Given the description of an element on the screen output the (x, y) to click on. 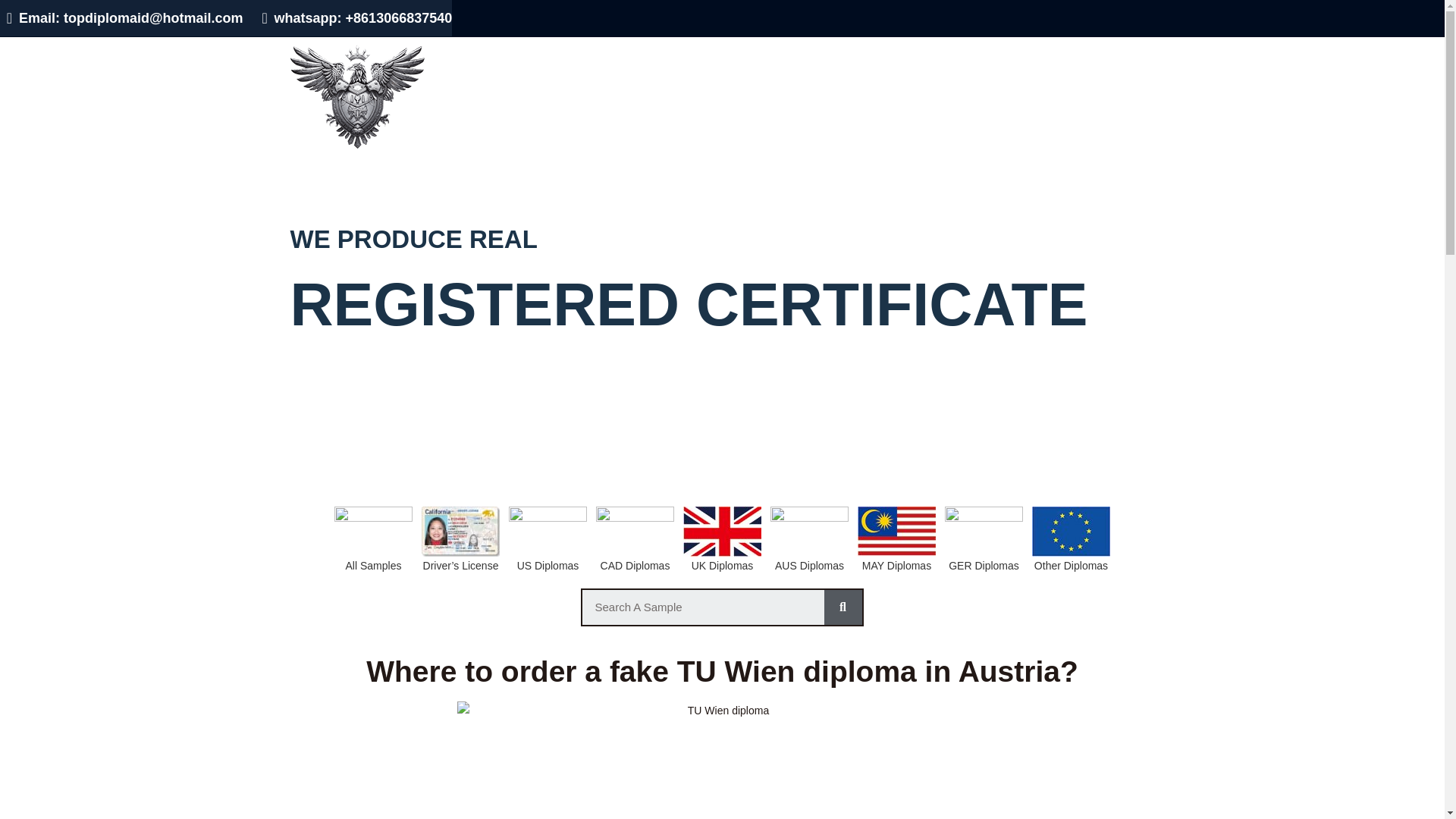
HOME (481, 54)
TRANSCRIPTS (844, 54)
CERTIFICATES (946, 54)
Search (703, 606)
ABOUT US (1035, 54)
FAKE DIPLOMA SAMPLES (592, 54)
Search (842, 606)
CONTACT US (1120, 54)
DRIVER LICENSE (736, 54)
